Given the description of an element on the screen output the (x, y) to click on. 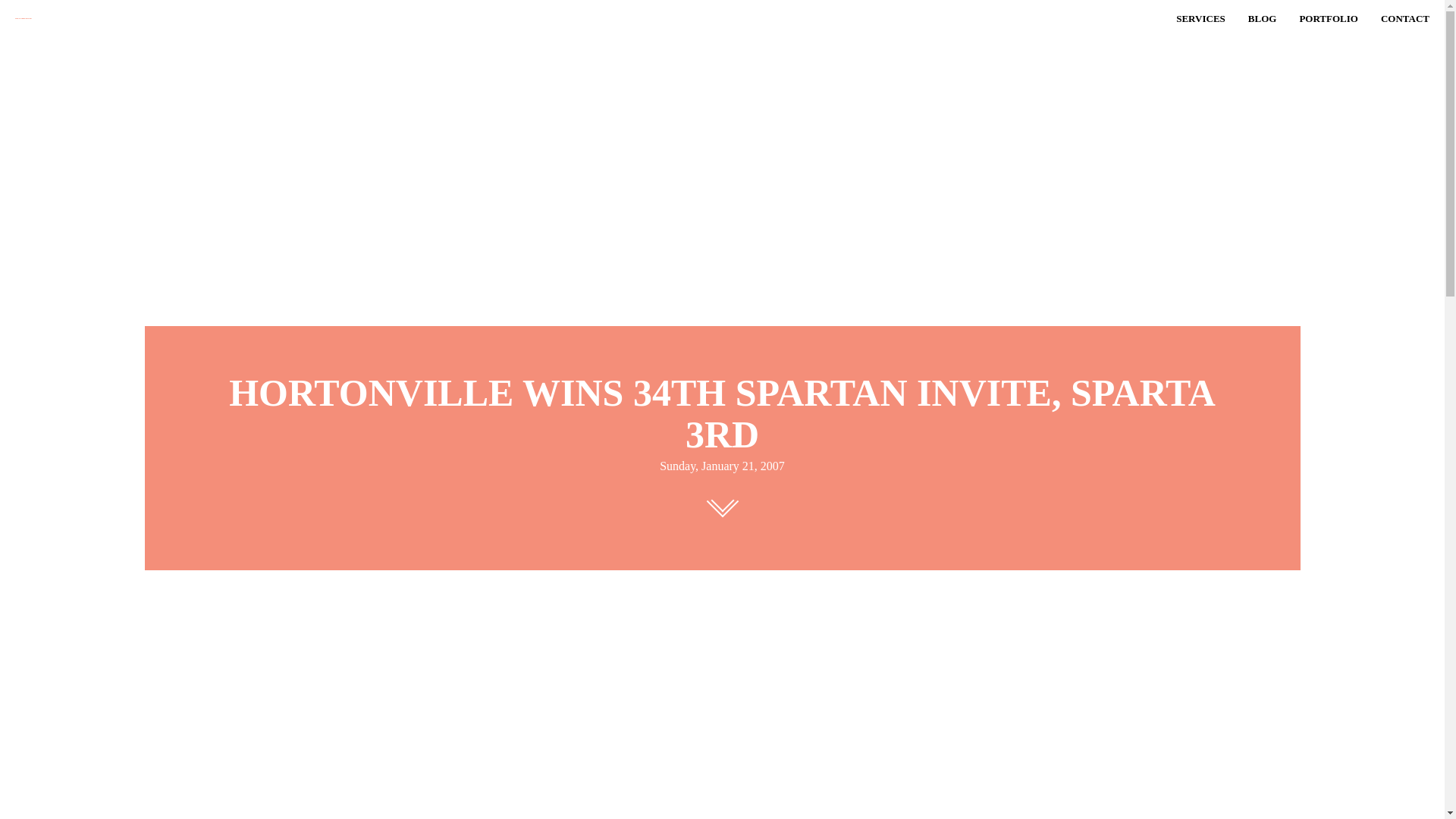
SERVICES (1200, 18)
CONTACT (1404, 18)
GET CREATIVE (128, 18)
PORTFOLIO (1328, 18)
BLOG (1261, 18)
